Given the description of an element on the screen output the (x, y) to click on. 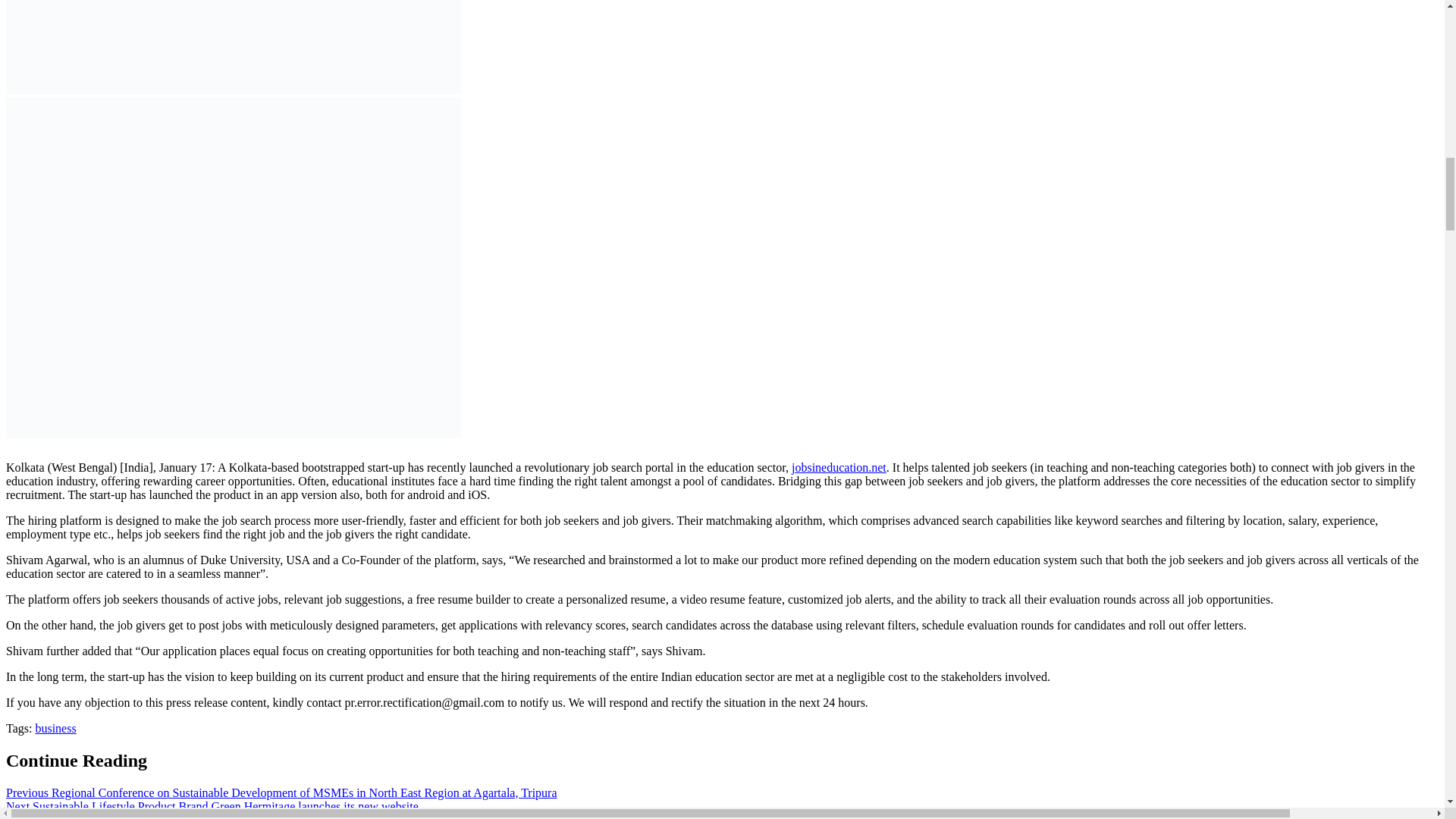
business (54, 727)
jobsineducation.net (839, 467)
